Given the description of an element on the screen output the (x, y) to click on. 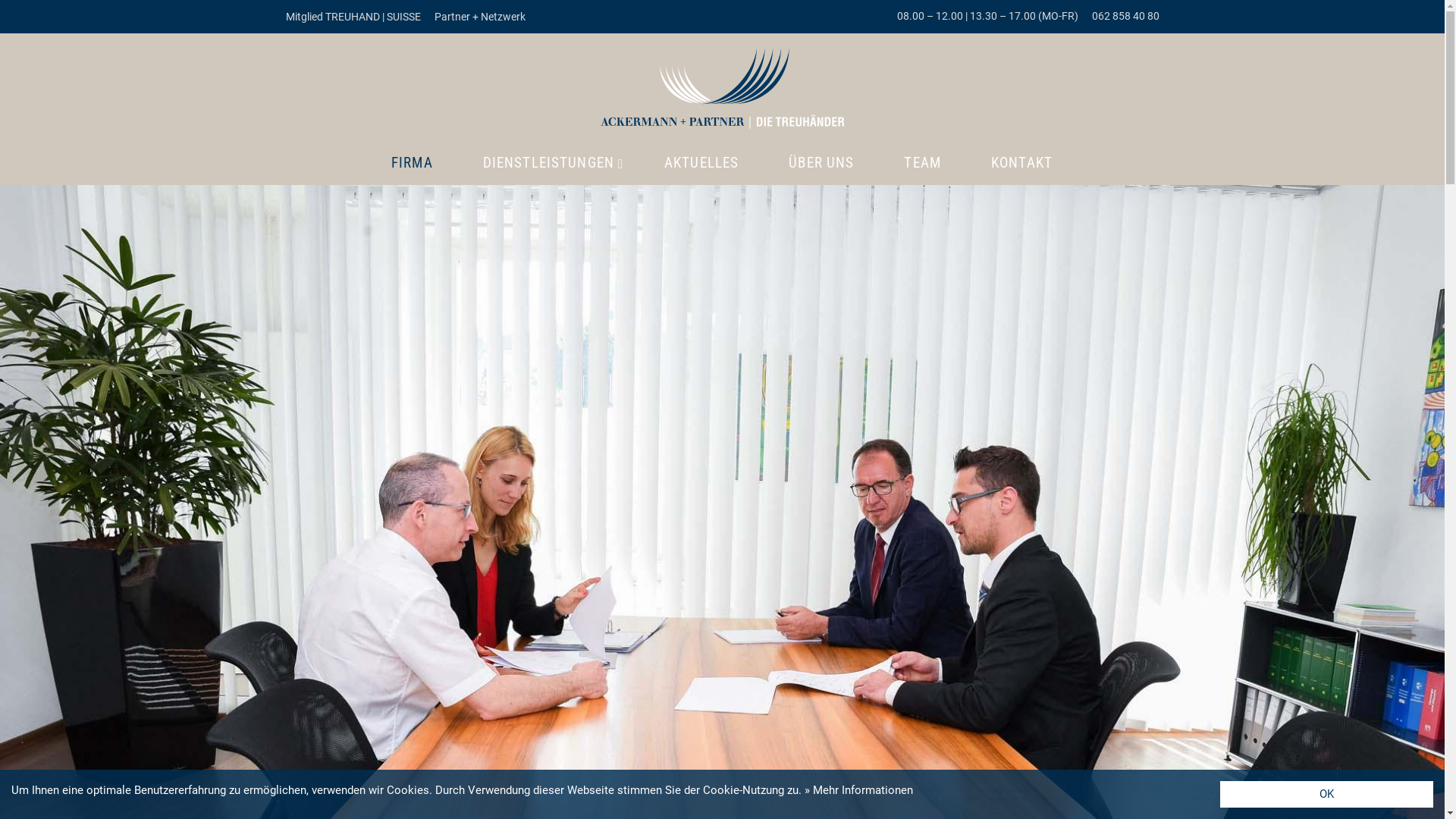
KONTAKT Element type: text (1021, 162)
Mitglied TREUHAND | SUISSE Element type: text (352, 16)
DIENSTLEISTUNGEN Element type: text (548, 162)
Partner + Netzwerk Element type: text (478, 16)
AKTUELLES Element type: text (701, 162)
OK Element type: text (1326, 794)
TEAM Element type: text (922, 162)
FIRMA Element type: text (412, 162)
